Given the description of an element on the screen output the (x, y) to click on. 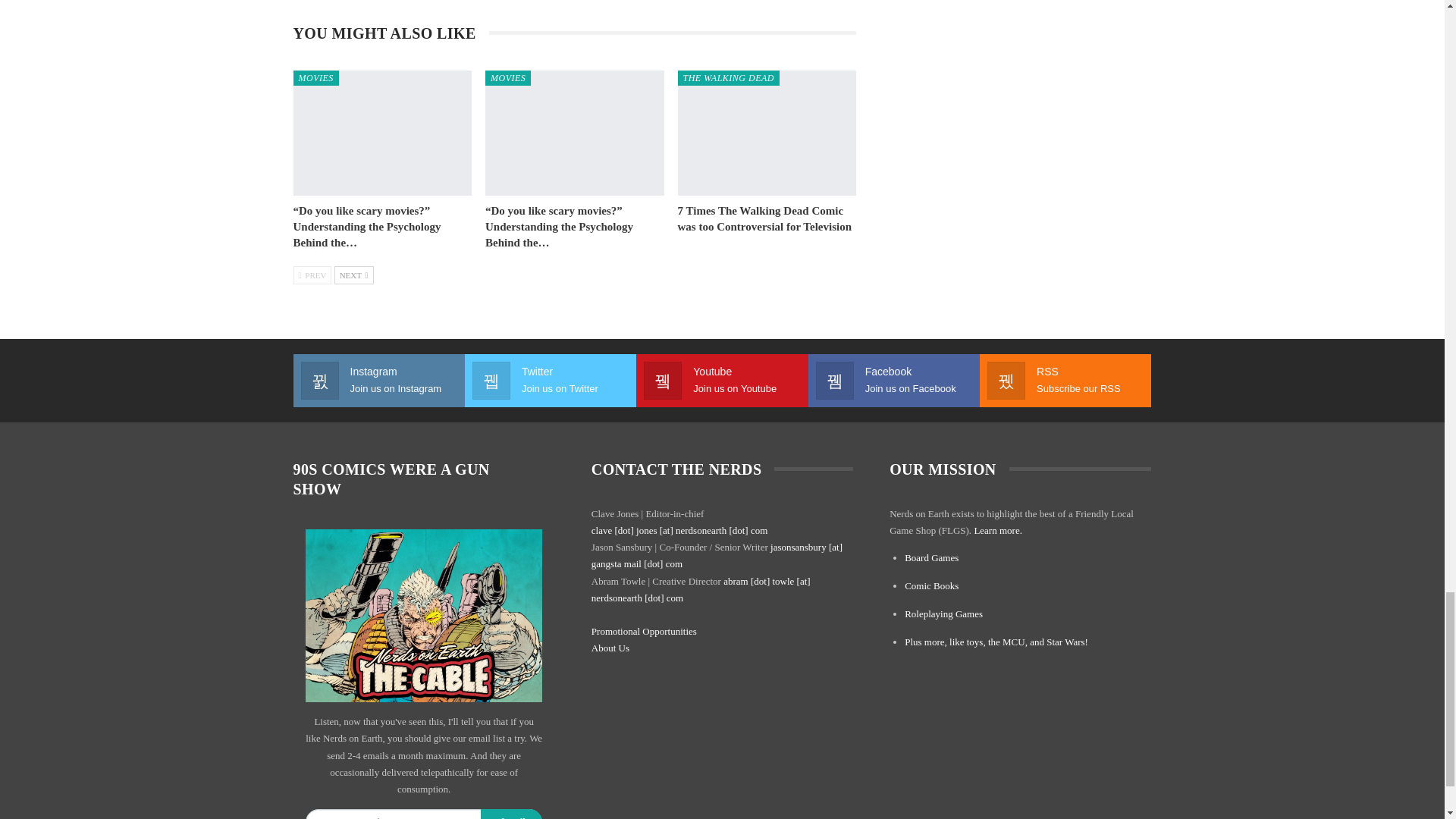
Next (354, 274)
Previous (311, 274)
